Given the description of an element on the screen output the (x, y) to click on. 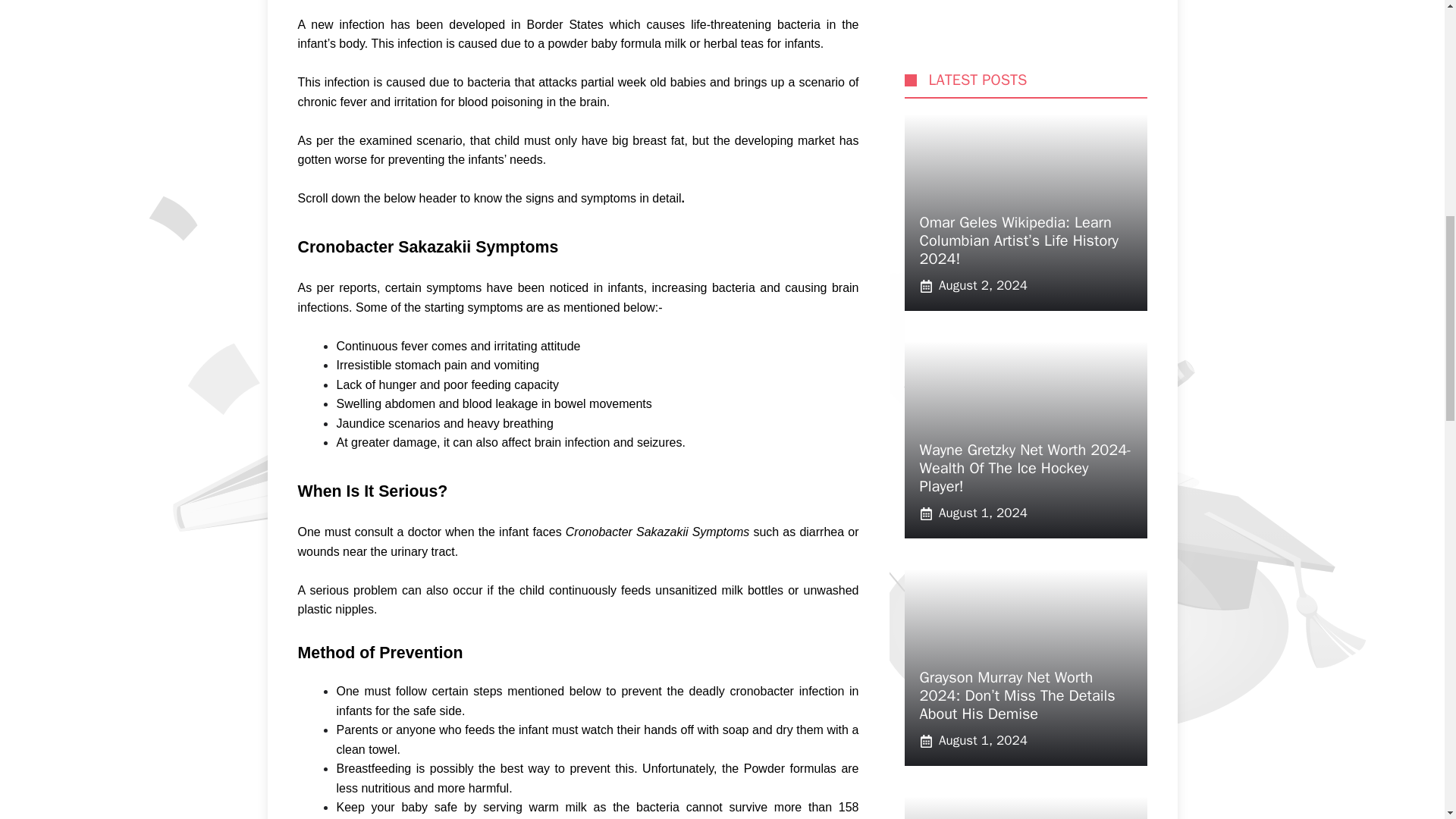
Scroll back to top (1406, 720)
